Given the description of an element on the screen output the (x, y) to click on. 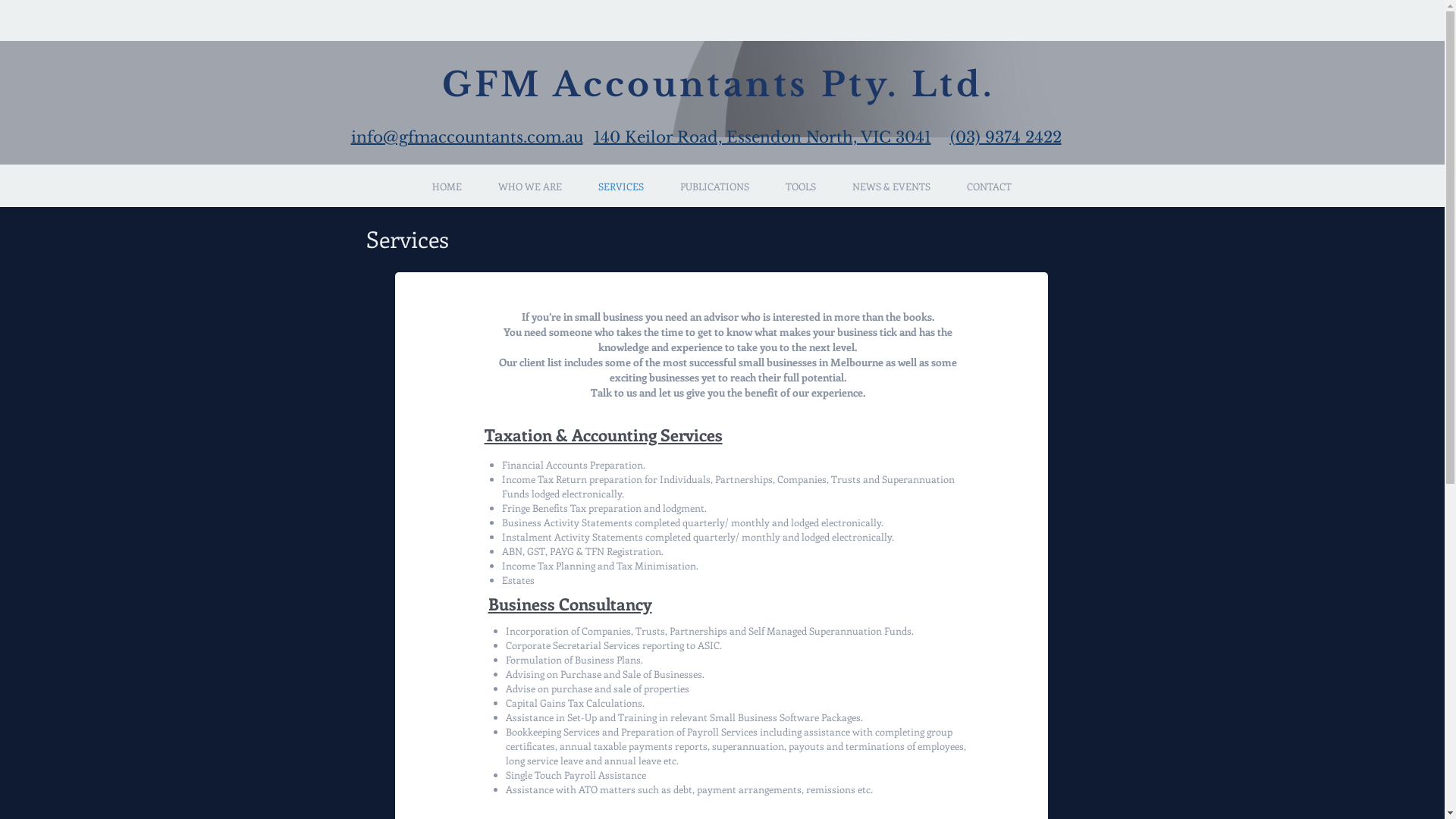
WHO WE ARE Element type: text (529, 186)
HOME Element type: text (447, 186)
NEWS & EVENTS Element type: text (891, 186)
140 Keilor Road, Essendon North, VIC 3041 Element type: text (761, 137)
PUBLICATIONS Element type: text (713, 186)
(03) 9374 2422 Element type: text (1004, 137)
CONTACT Element type: text (988, 186)
info@gfmaccountants.com.au Element type: text (466, 137)
SERVICES Element type: text (620, 186)
TOOLS Element type: text (800, 186)
